Given the description of an element on the screen output the (x, y) to click on. 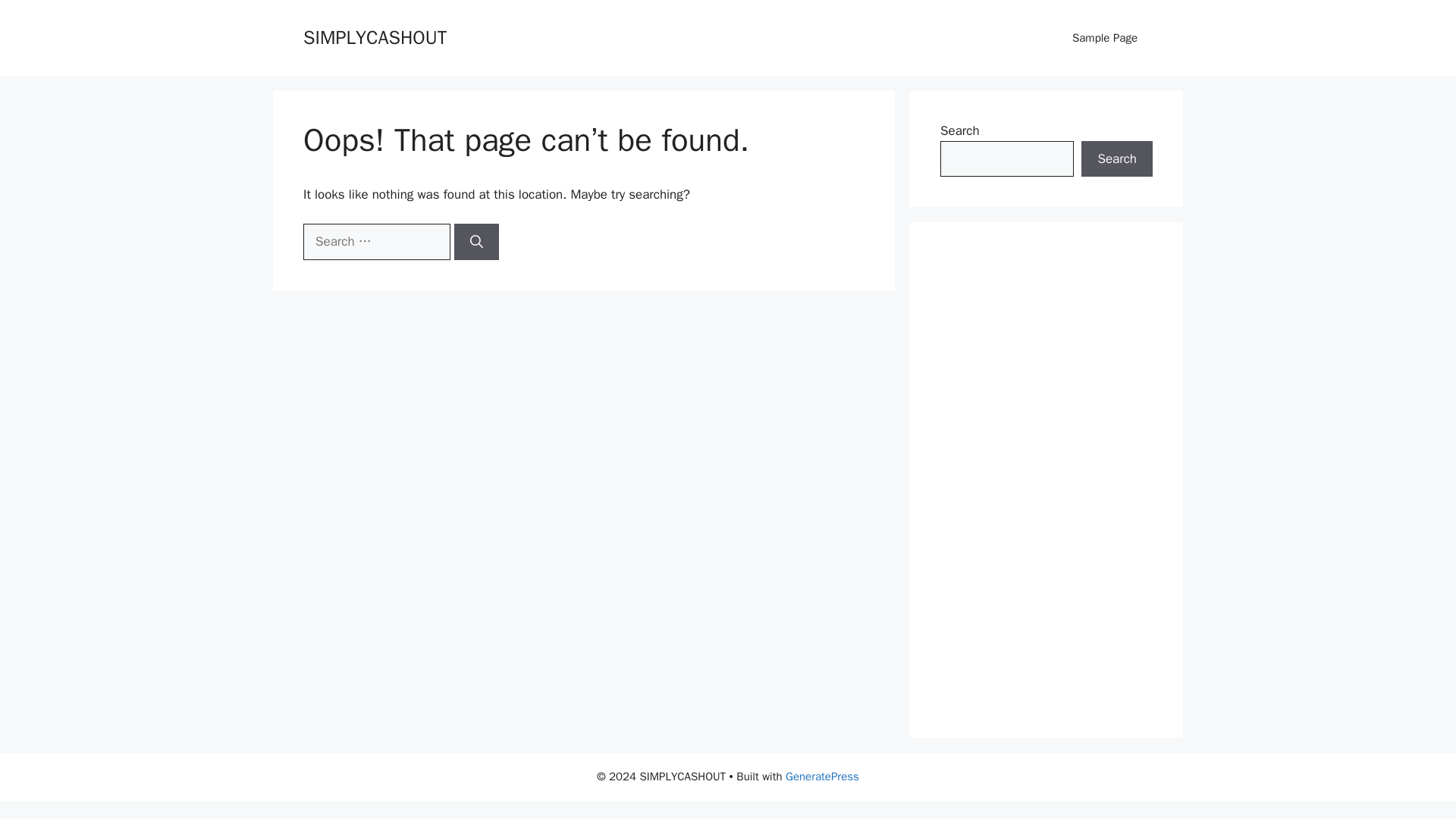
SIMPLYCASHOUT (374, 37)
Search (1117, 158)
Sample Page (1105, 37)
Search for: (375, 241)
GeneratePress (822, 775)
